Given the description of an element on the screen output the (x, y) to click on. 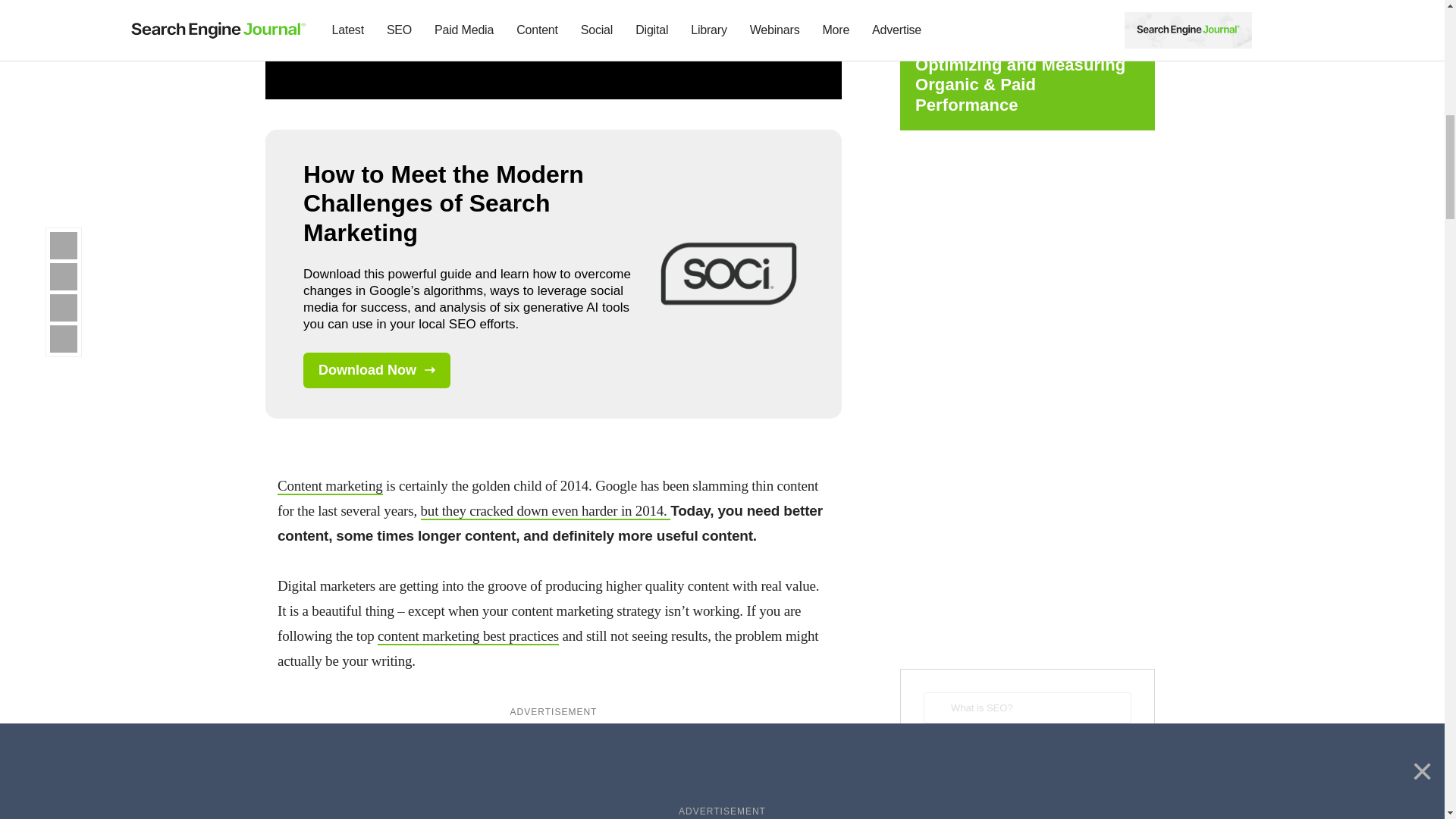
SEARCH (1027, 753)
SEARCH (1027, 753)
